Given the description of an element on the screen output the (x, y) to click on. 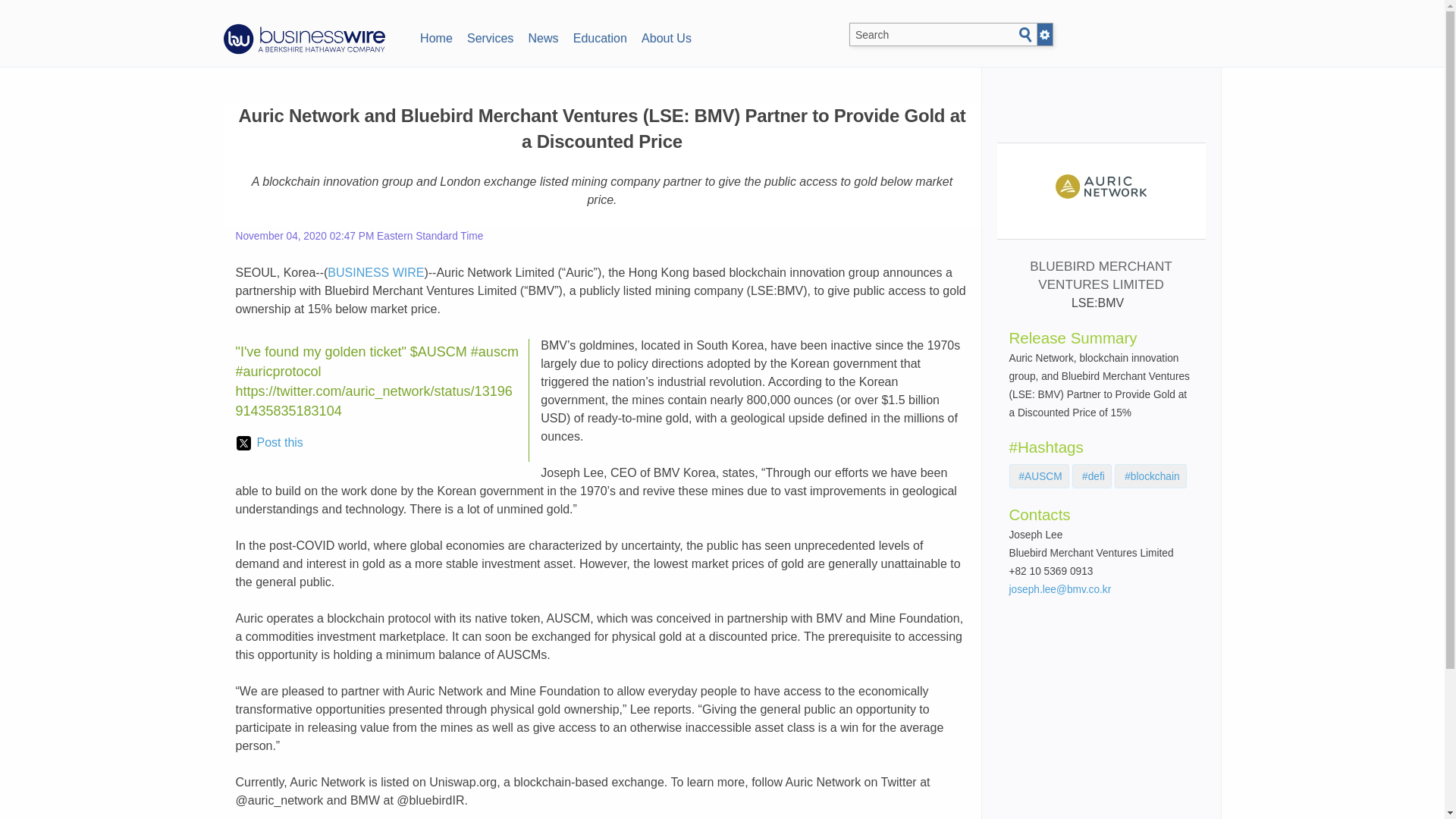
Home (436, 36)
BUSINESS WIRE (375, 272)
Education (599, 36)
Search (1025, 34)
Services (490, 36)
News (543, 36)
Search BusinessWire.com (948, 34)
About Us (665, 36)
Post this (269, 442)
